Given the description of an element on the screen output the (x, y) to click on. 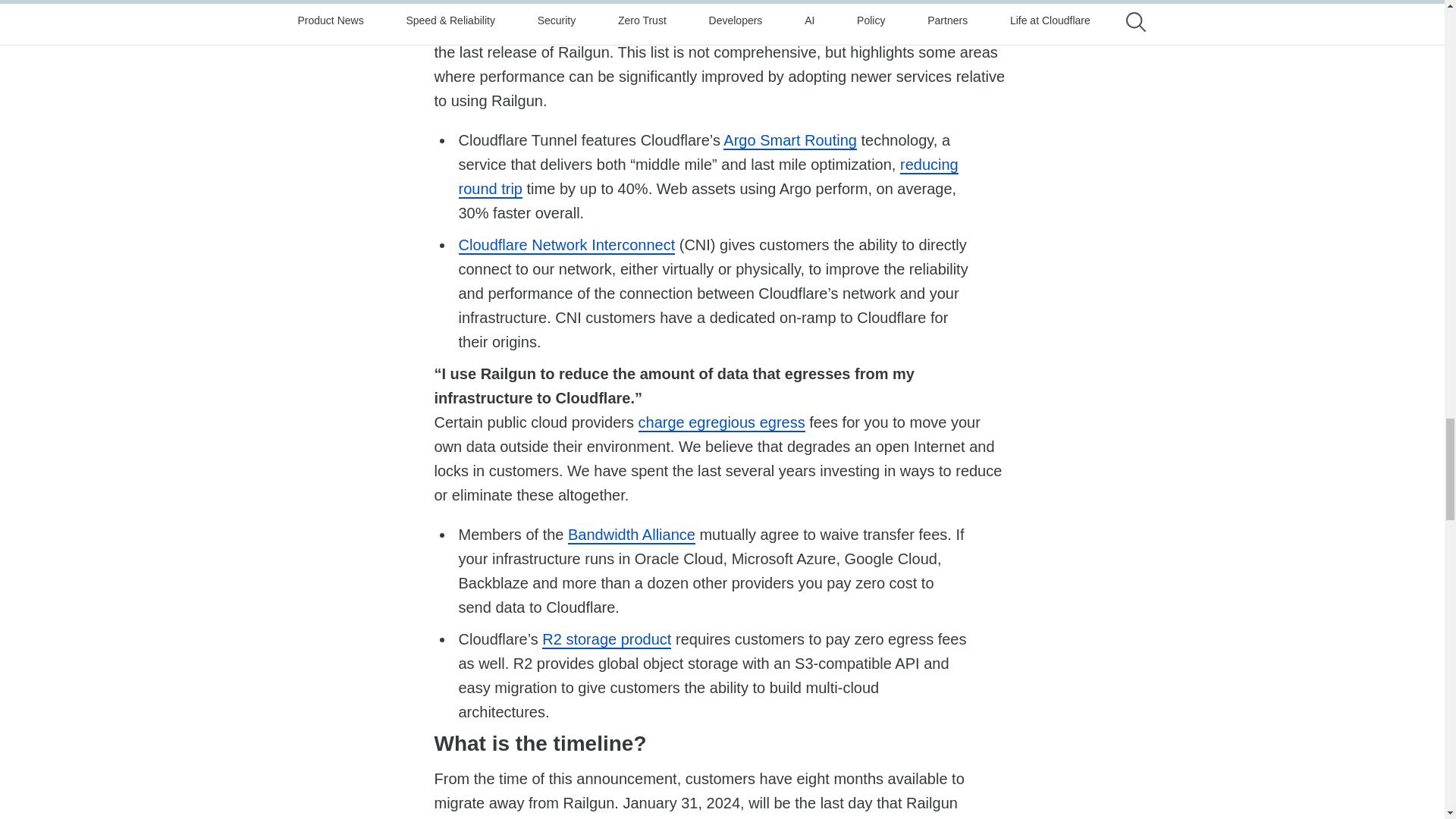
Cloudflare Network Interconnect (566, 245)
Argo Smart Routing (790, 140)
reducing round trip (708, 177)
charge egregious egress (722, 423)
